Given the description of an element on the screen output the (x, y) to click on. 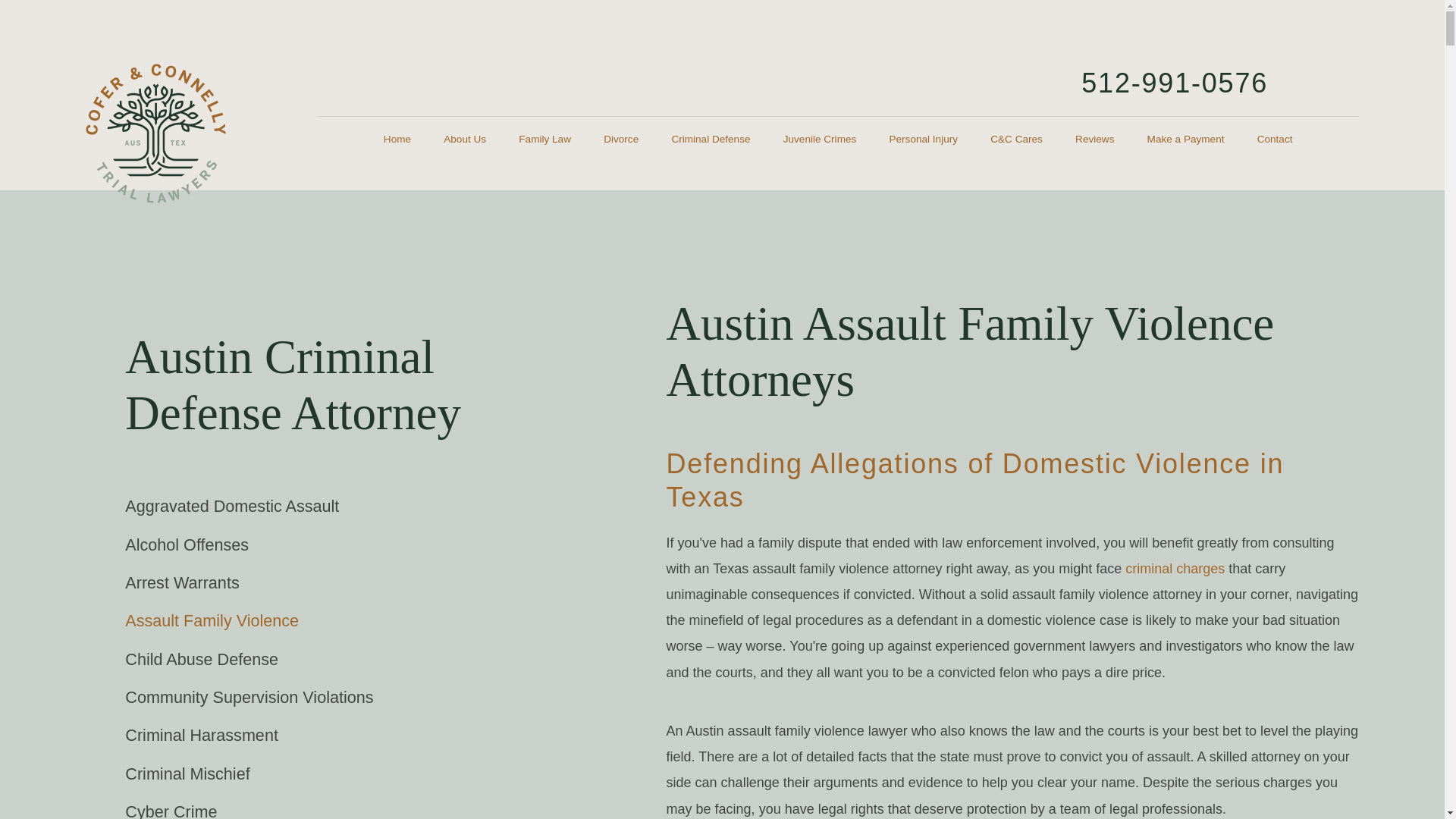
About Us (465, 139)
Family Law (544, 139)
Open the accessibility options menu (1412, 786)
512-991-0576 (1174, 82)
